Given the description of an element on the screen output the (x, y) to click on. 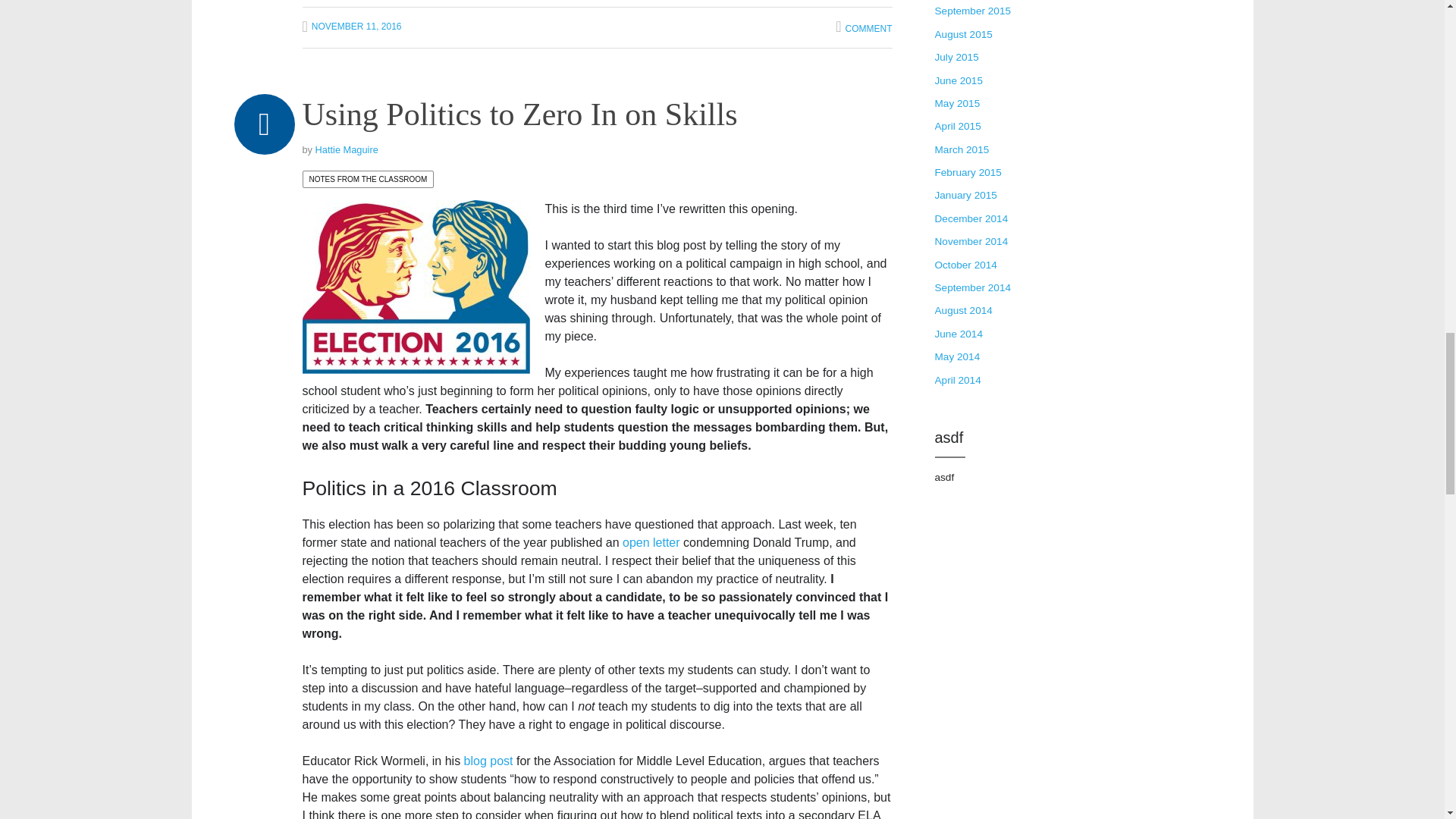
View all posts by Hattie Maguire (346, 149)
11:40 am (351, 26)
